Given the description of an element on the screen output the (x, y) to click on. 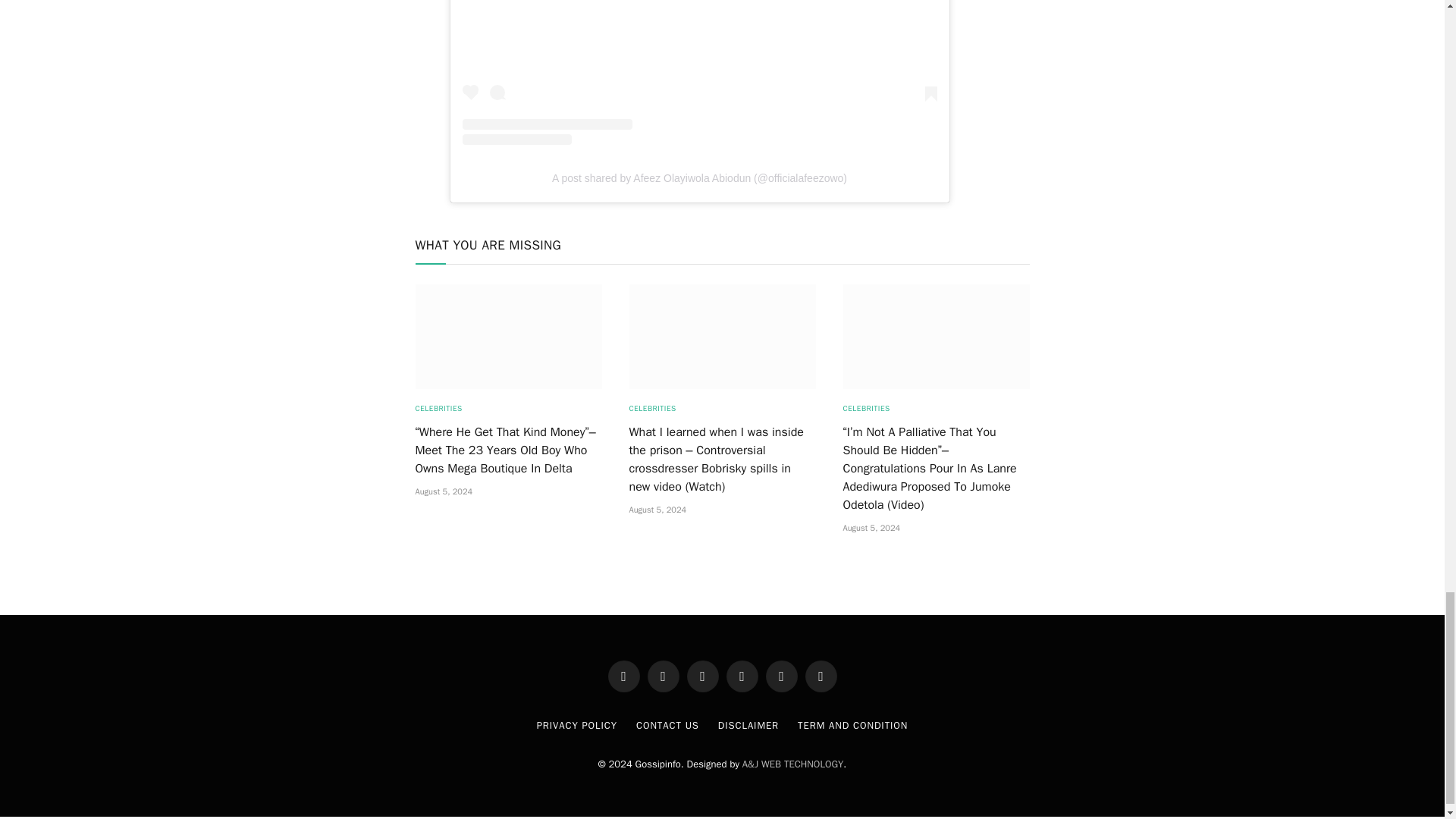
View this post on Instagram (700, 72)
